Given the description of an element on the screen output the (x, y) to click on. 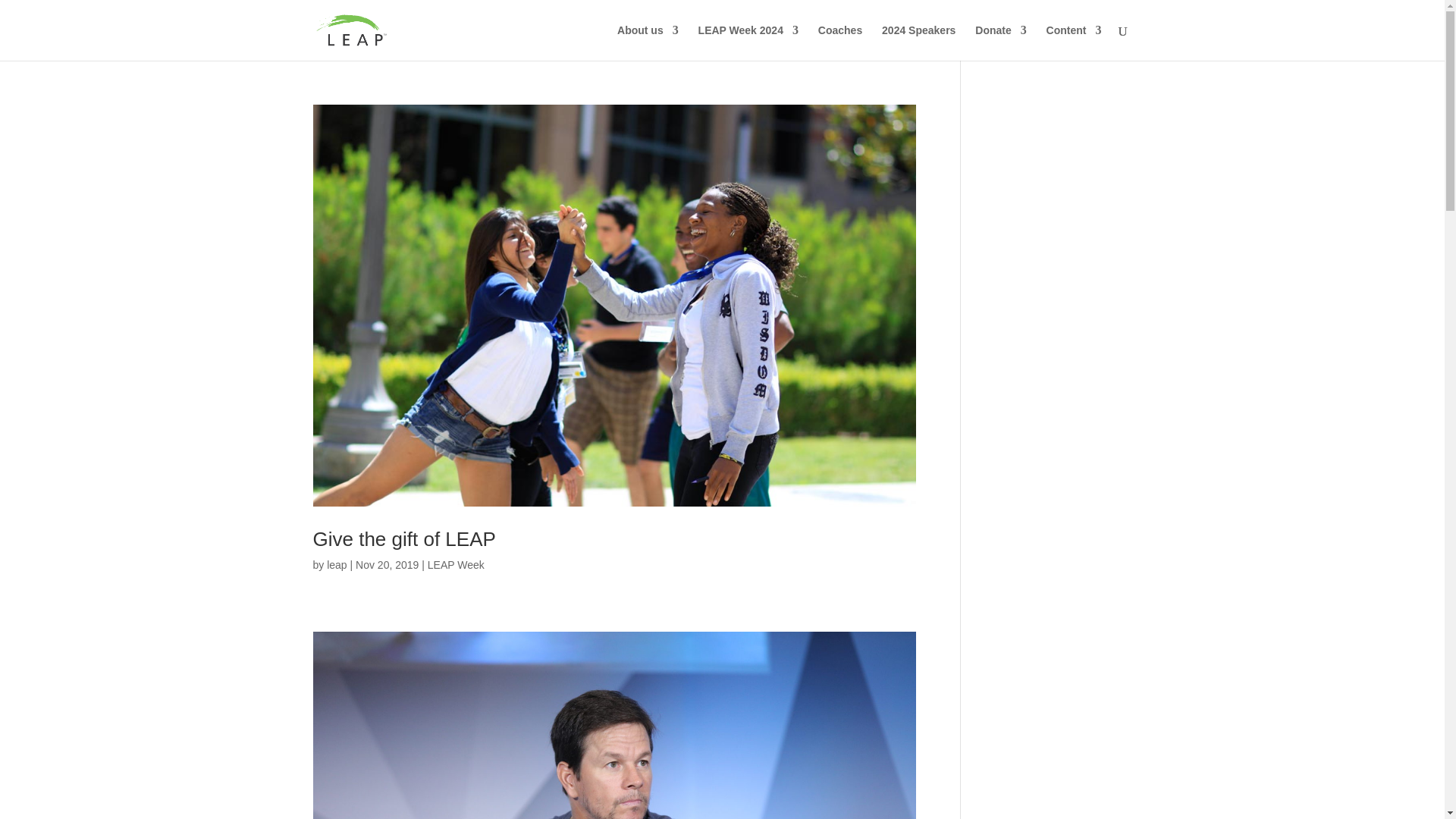
Posts by leap (336, 564)
Donate (1000, 42)
LEAP Week 2024 (747, 42)
Coaches (839, 42)
LEAP Week (456, 564)
leap (336, 564)
Content (1074, 42)
About us (647, 42)
2024 Speakers (918, 42)
Give the gift of LEAP (404, 538)
